Given the description of an element on the screen output the (x, y) to click on. 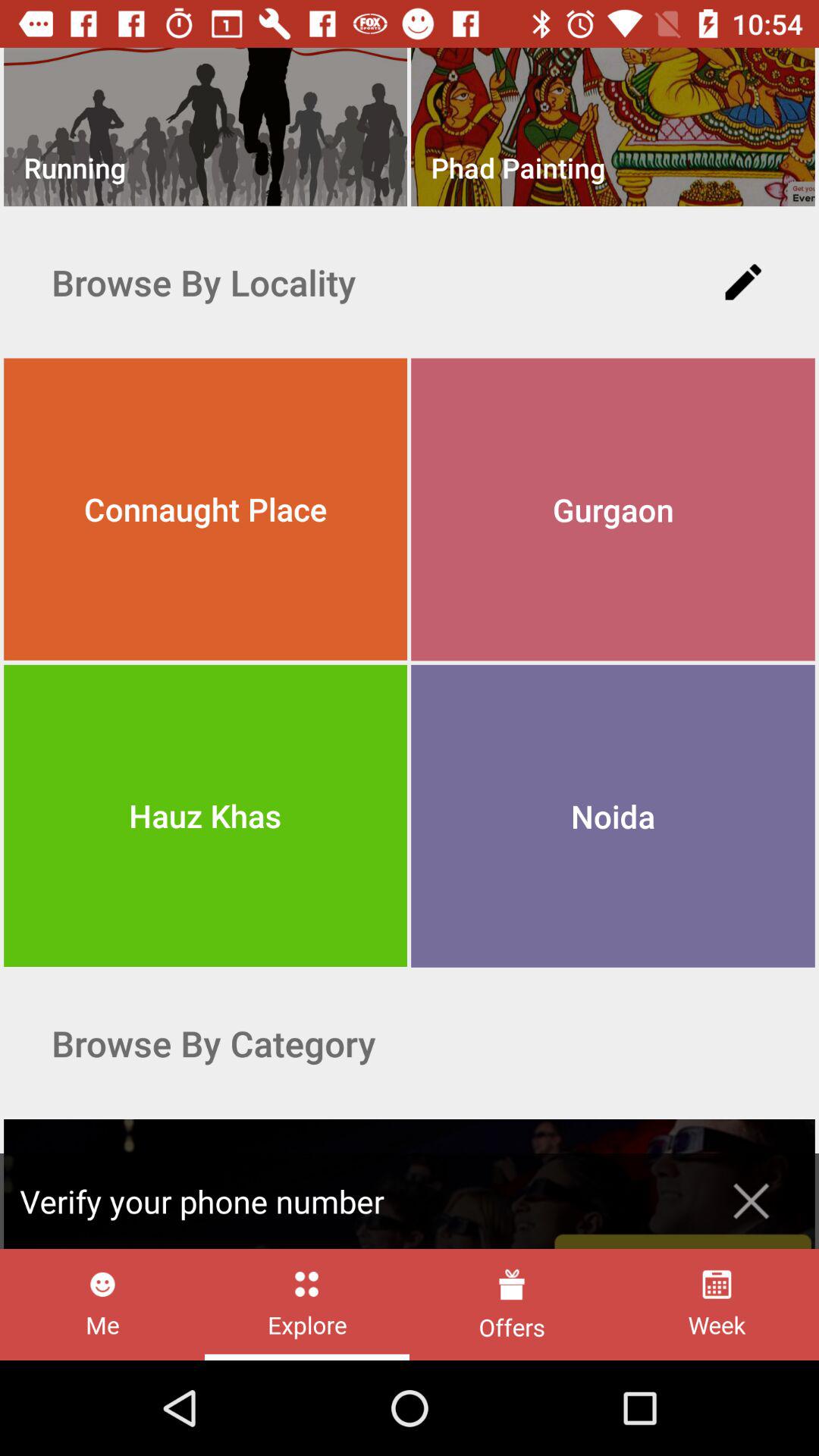
click the icon to the right of browse by locality item (743, 281)
